Given the description of an element on the screen output the (x, y) to click on. 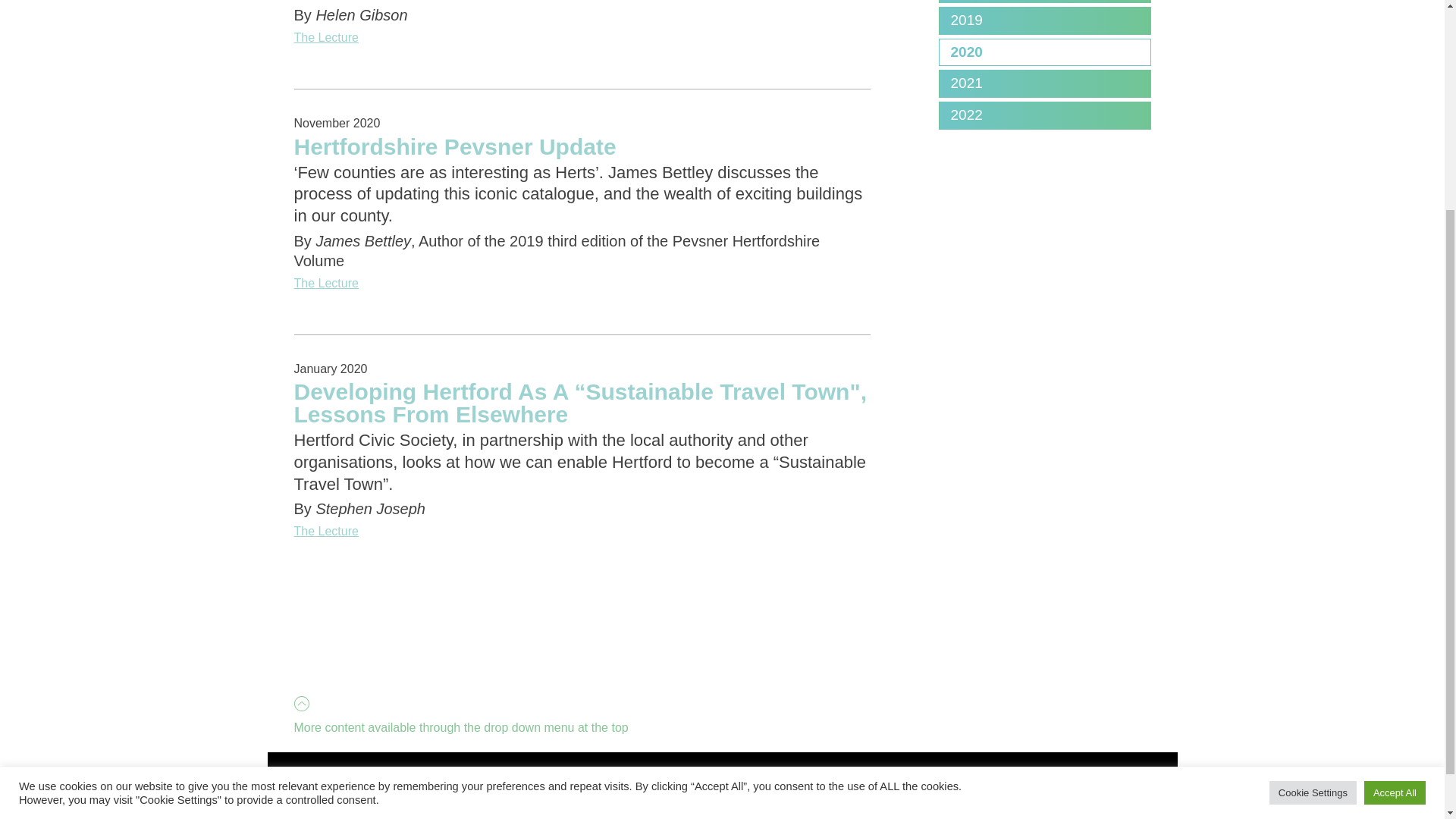
More content available through the drop down menu at the top (459, 667)
2019 (1044, 20)
Cookie Settings (1312, 503)
2022 (1044, 115)
The Lecture (582, 531)
2020 (1044, 52)
Join us (531, 800)
The Lecture (582, 37)
2023 (1044, 1)
2021 (1044, 83)
